Given the description of an element on the screen output the (x, y) to click on. 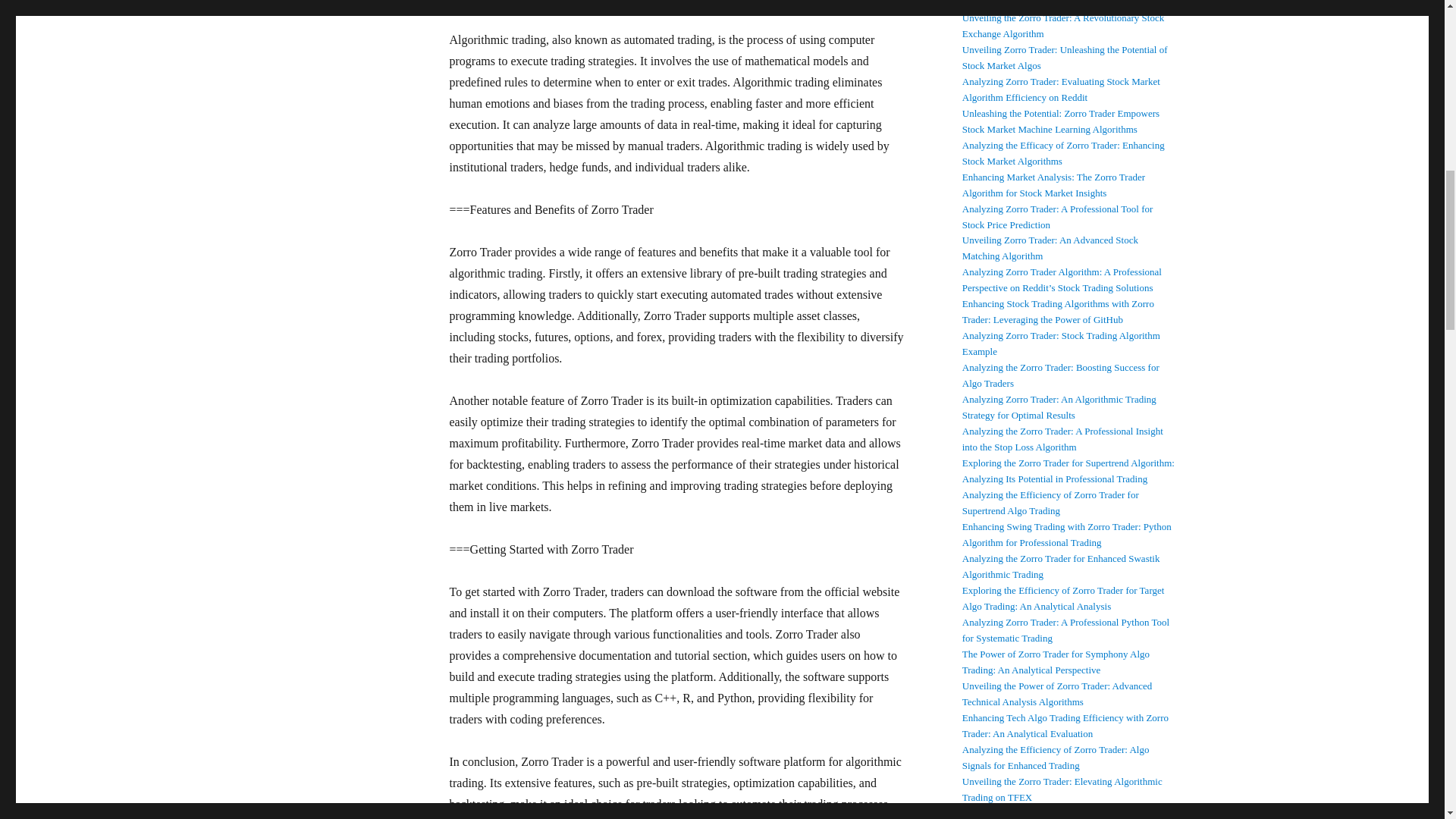
Analyzing Zorro Trader: Stock Trading Algorithm Example (1061, 343)
Unveiling Zorro Trader: An Advanced Stock Matching Algorithm (1050, 247)
